Given the description of an element on the screen output the (x, y) to click on. 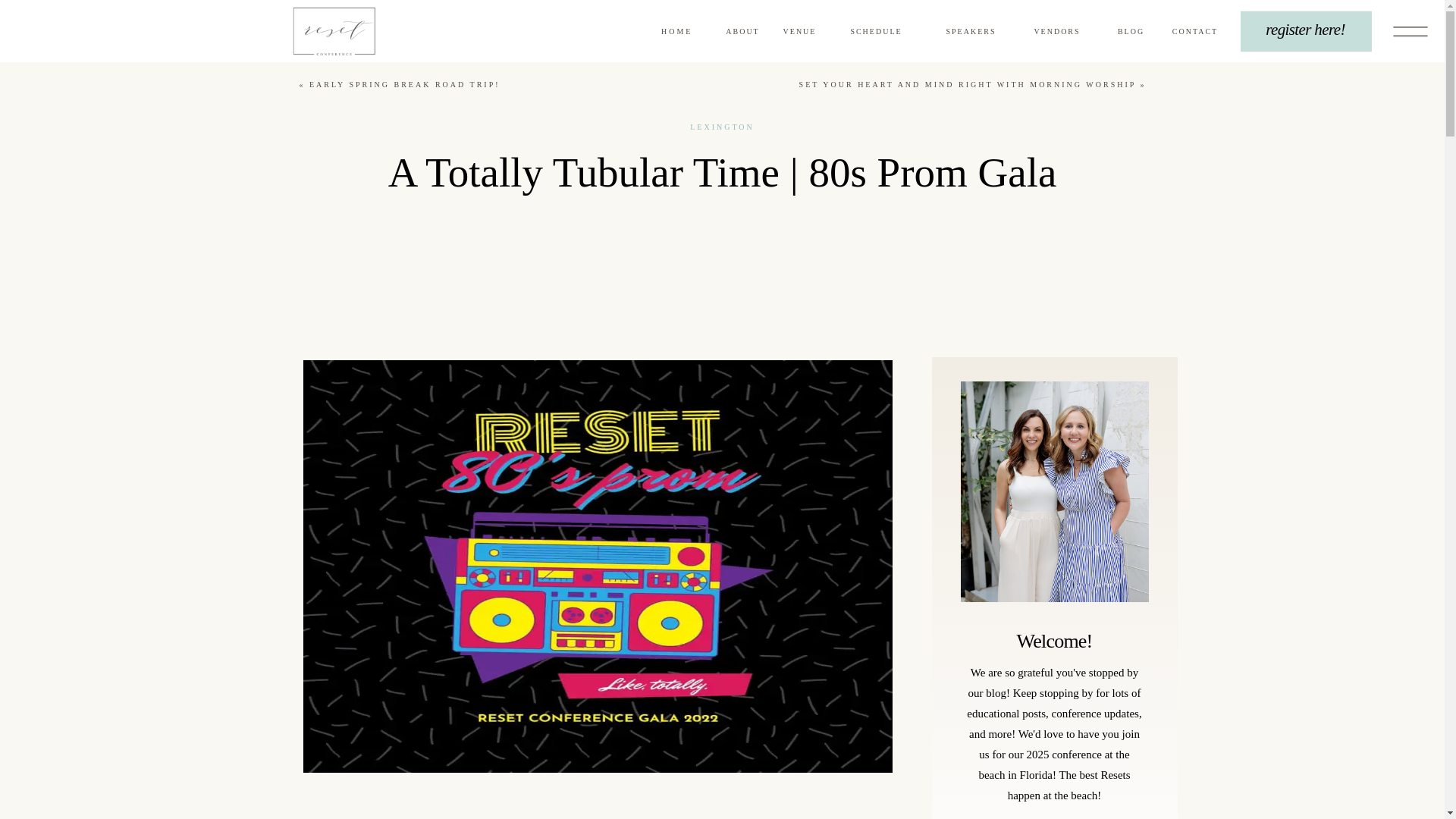
BLOG (1130, 33)
VENUE (799, 33)
CONTACT (1194, 33)
ABOUT (743, 33)
SET YOUR HEART AND MIND RIGHT WITH MORNING WORSHIP (967, 84)
register here! (1305, 31)
SCHEDULE (876, 33)
HOME (679, 32)
EARLY SPRING BREAK ROAD TRIP! (404, 84)
SPEAKERS (971, 33)
LEXINGTON (722, 126)
VENDORS (1057, 33)
